Given the description of an element on the screen output the (x, y) to click on. 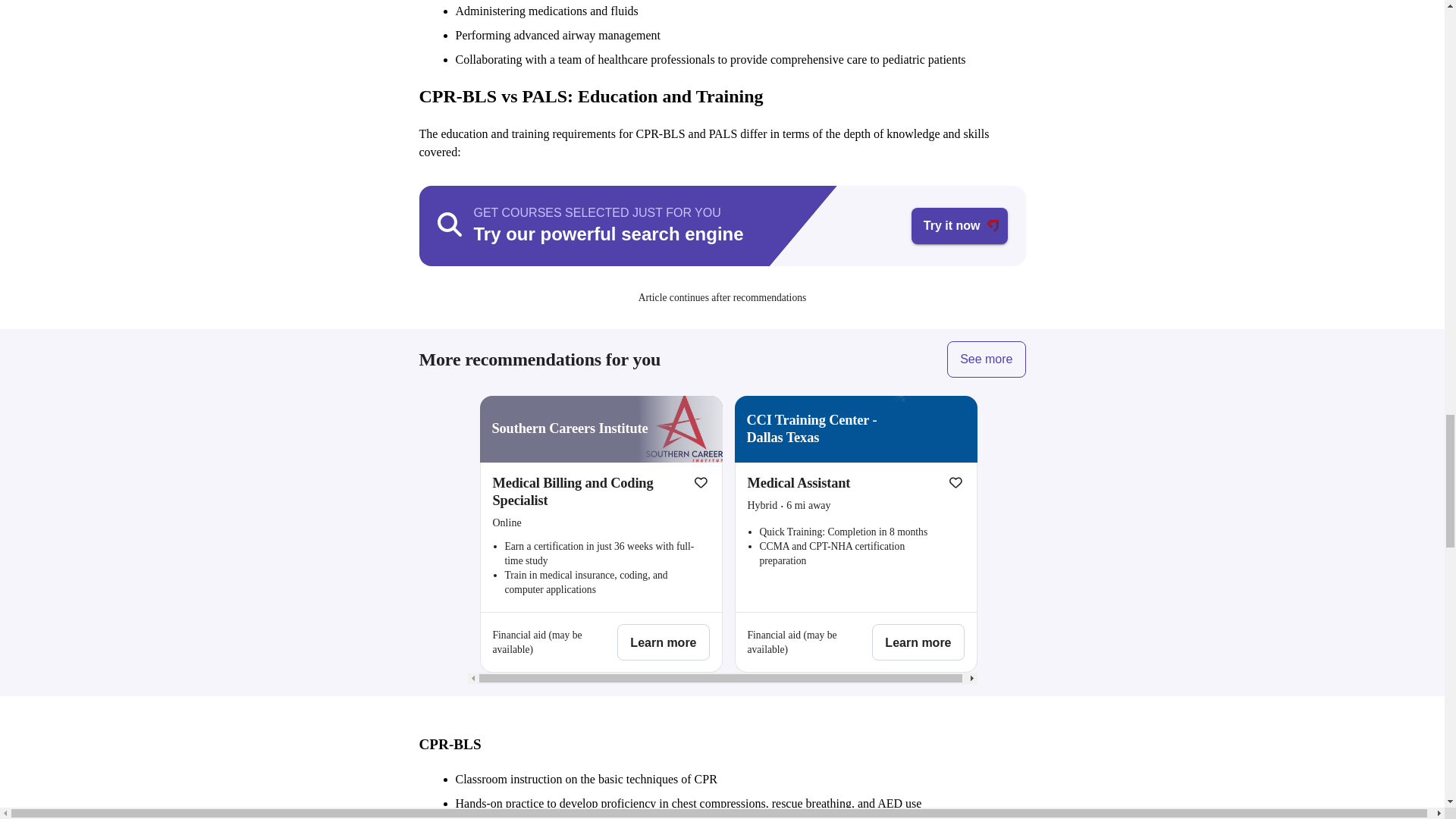
Learn more (917, 642)
Learn more (663, 640)
See more (986, 359)
Learn more (917, 640)
Try it now (959, 226)
Learn more (663, 642)
